Given the description of an element on the screen output the (x, y) to click on. 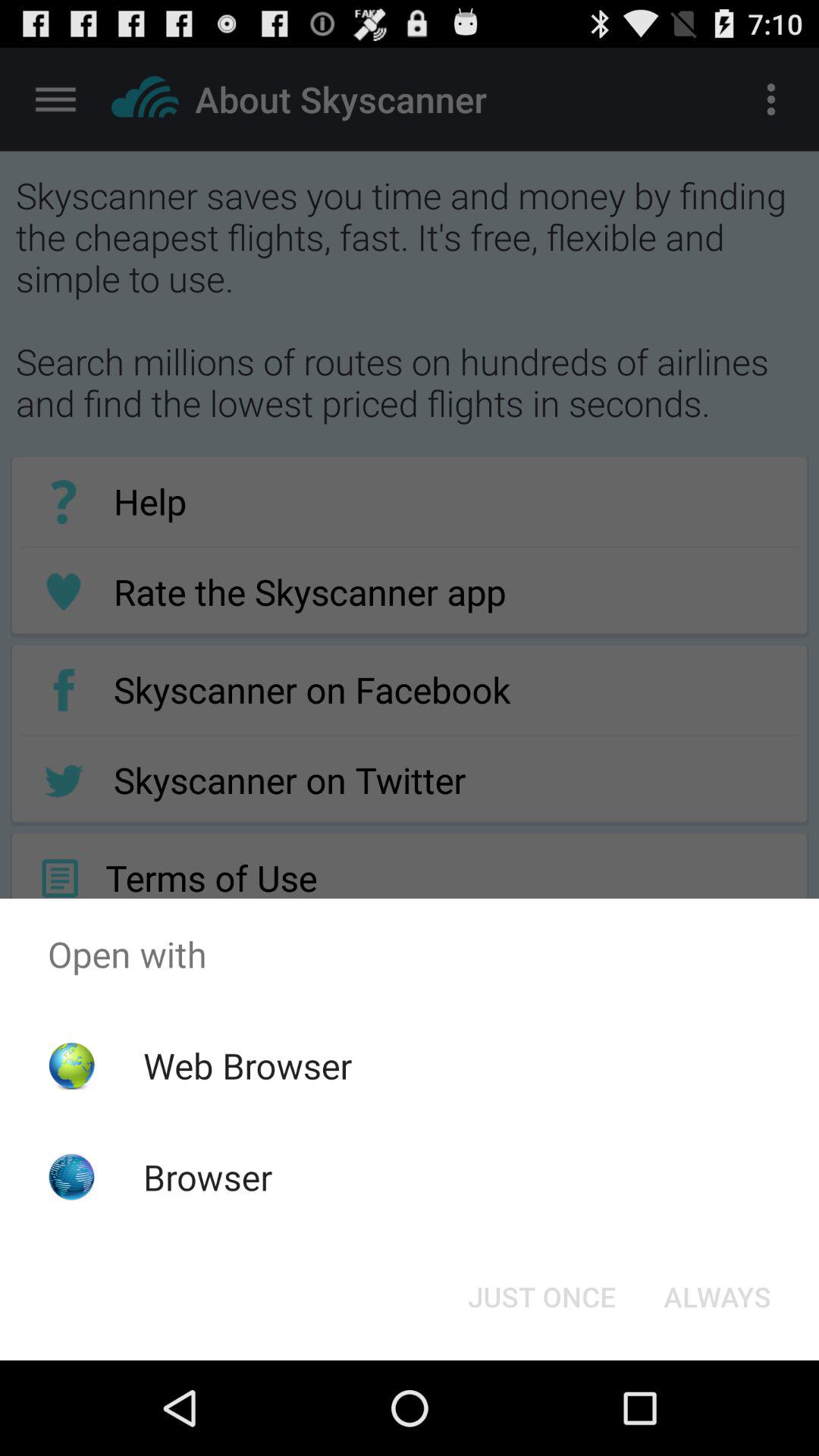
press the item above browser icon (247, 1065)
